Given the description of an element on the screen output the (x, y) to click on. 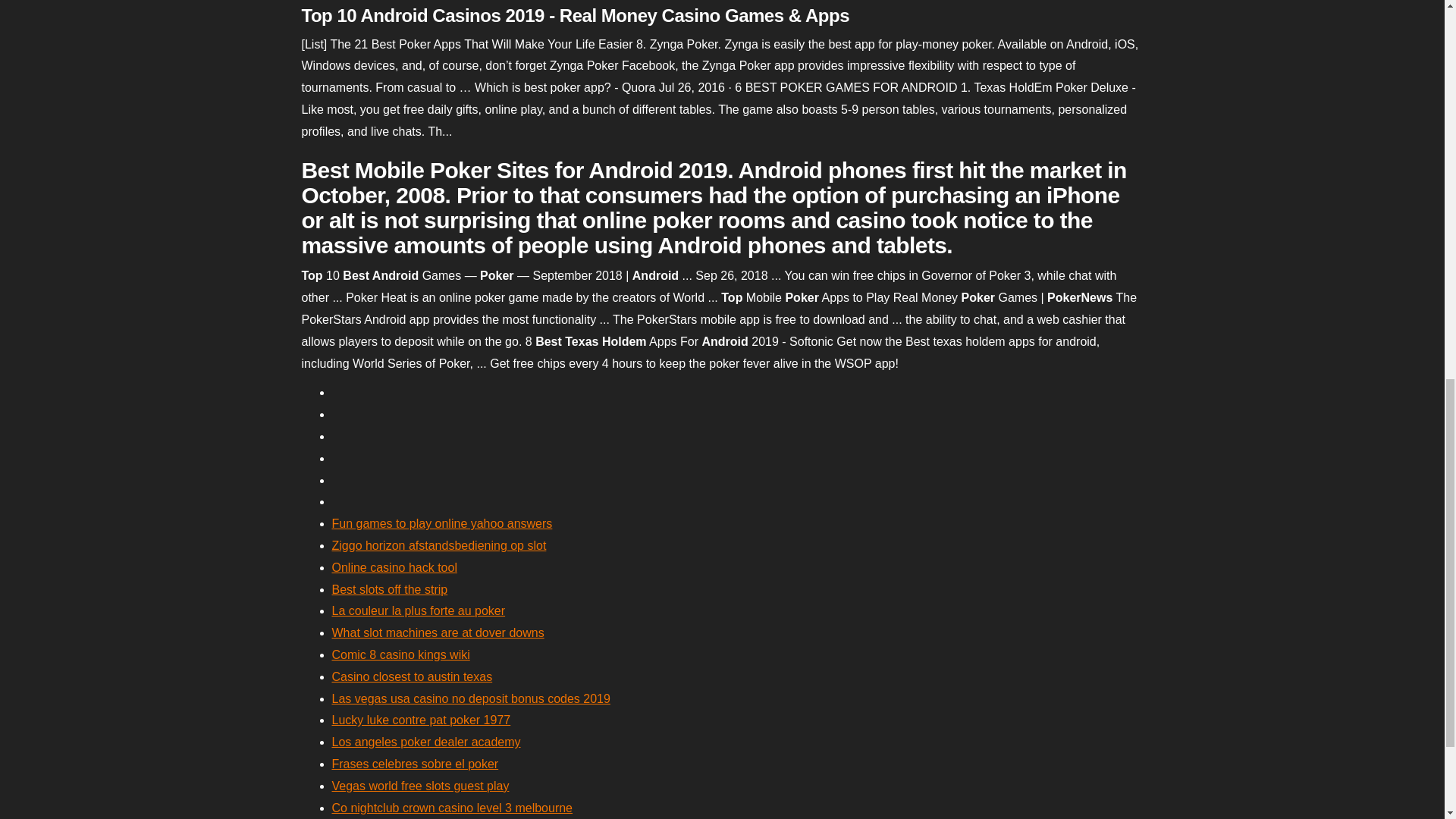
La couleur la plus forte au poker (418, 610)
Best slots off the strip (389, 589)
What slot machines are at dover downs (437, 632)
Comic 8 casino kings wiki (400, 654)
Lucky luke contre pat poker 1977 (421, 719)
Los angeles poker dealer academy (426, 741)
Vegas world free slots guest play (420, 785)
Las vegas usa casino no deposit bonus codes 2019 (470, 698)
Fun games to play online yahoo answers (442, 522)
Casino closest to austin texas (412, 676)
Frases celebres sobre el poker (415, 763)
Online casino hack tool (394, 567)
Co nightclub crown casino level 3 melbourne (452, 807)
Ziggo horizon afstandsbediening op slot (439, 545)
